Given the description of an element on the screen output the (x, y) to click on. 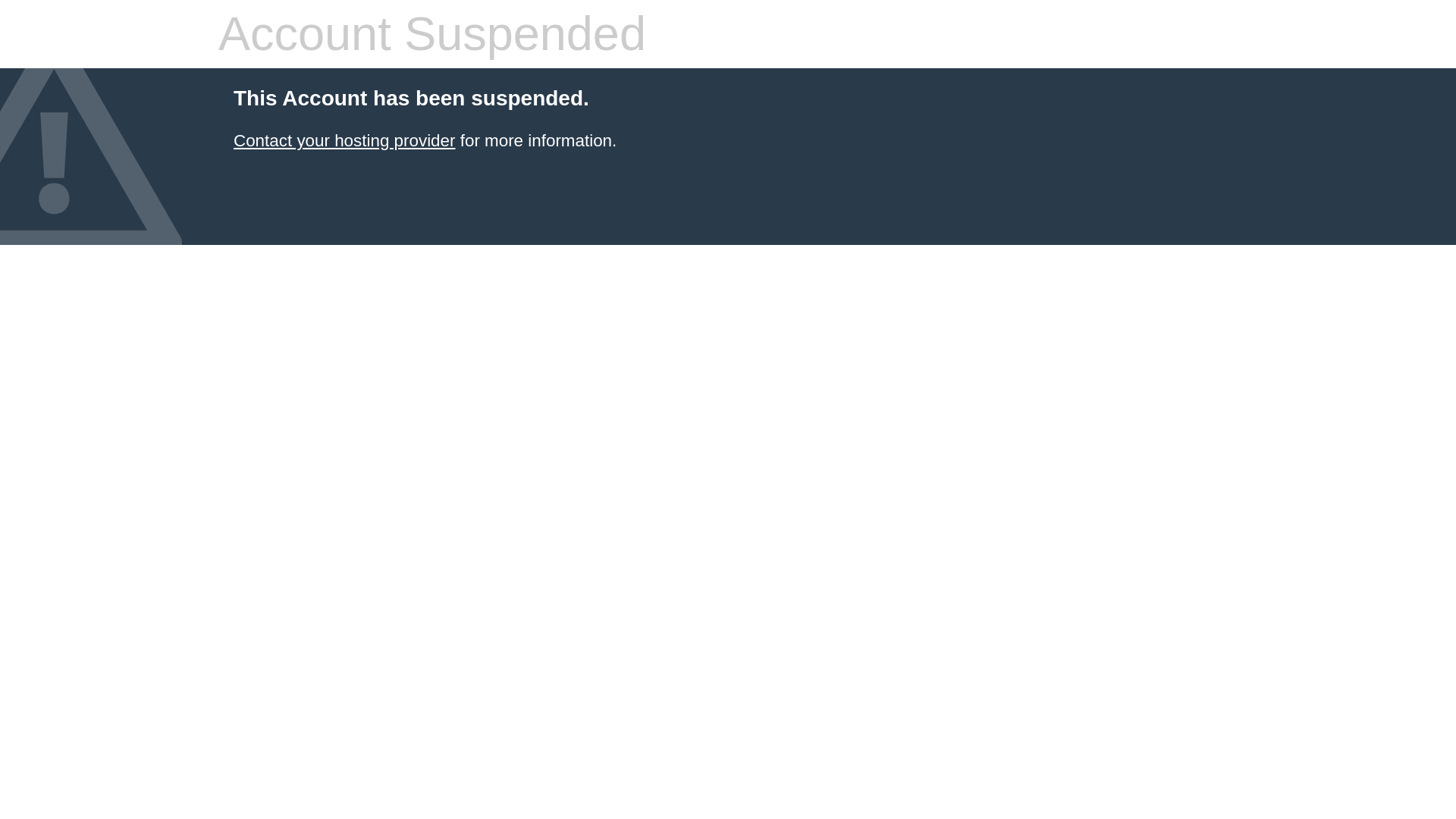
Contact your hosting provider (343, 140)
